Given the description of an element on the screen output the (x, y) to click on. 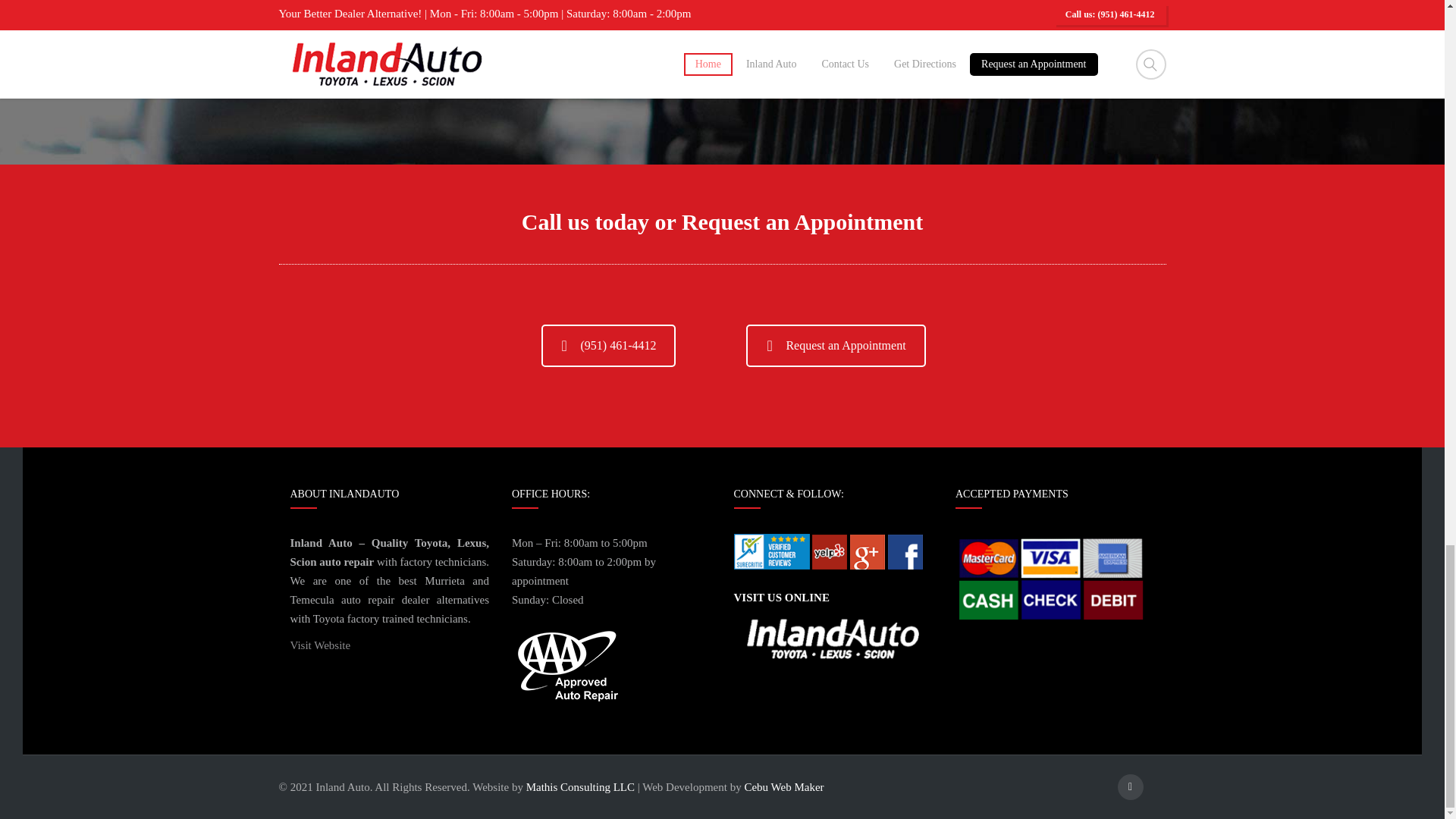
Visit Website (319, 645)
Request an Appointment (834, 345)
Cebu Web Maker (784, 787)
Call us (609, 345)
Request an Appointment (834, 345)
Mathis Consulting LLC (579, 787)
facebook (1130, 786)
